Given the description of an element on the screen output the (x, y) to click on. 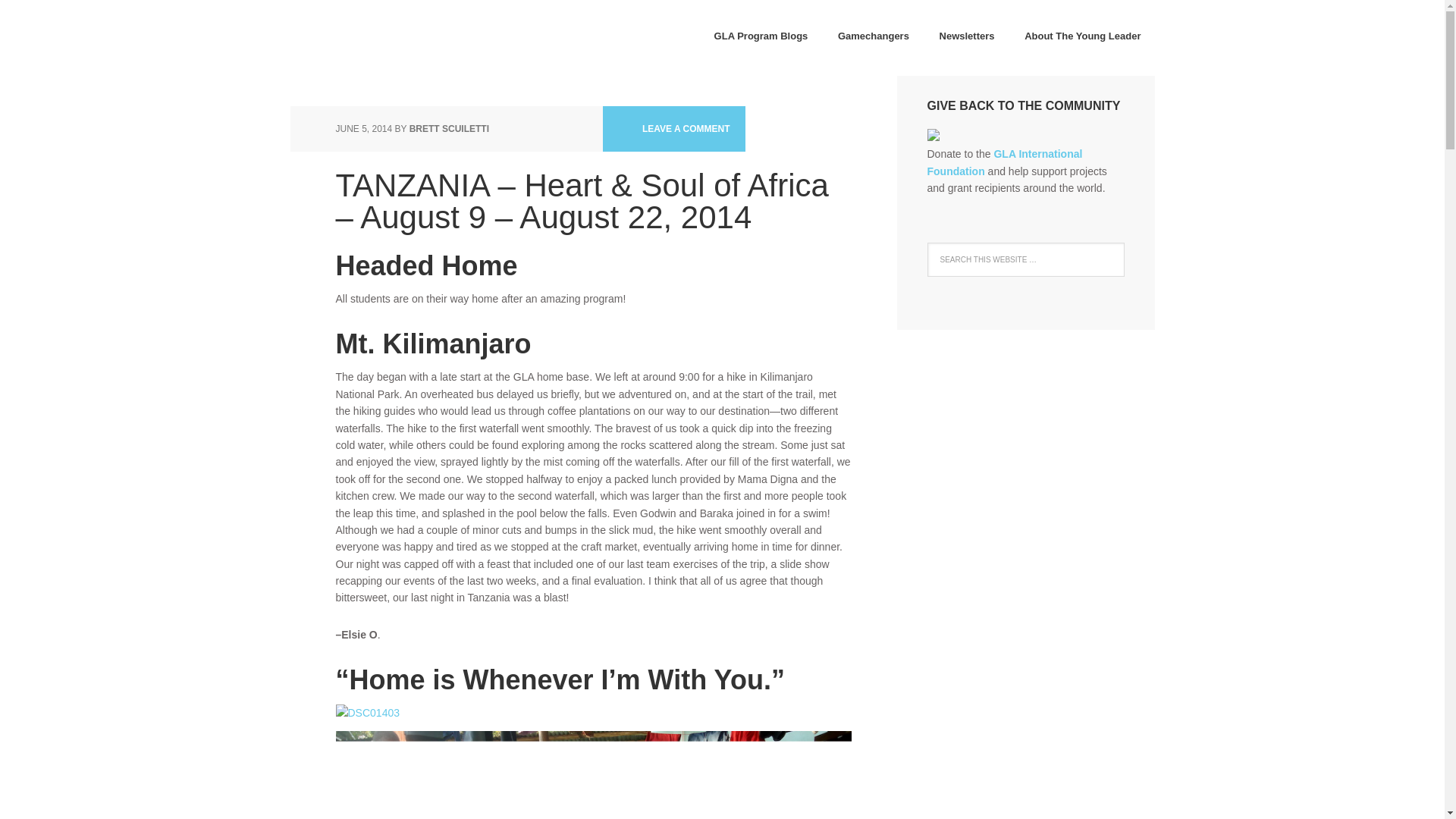
GLA International Foundation (1003, 162)
Newsletters (967, 37)
Gamechangers (873, 37)
About The Young Leader (1082, 37)
LEAVE A COMMENT (673, 128)
BRETT SCUILETTI (449, 128)
GLA Program Blogs (761, 37)
The Young Leader (387, 38)
